Given the description of an element on the screen output the (x, y) to click on. 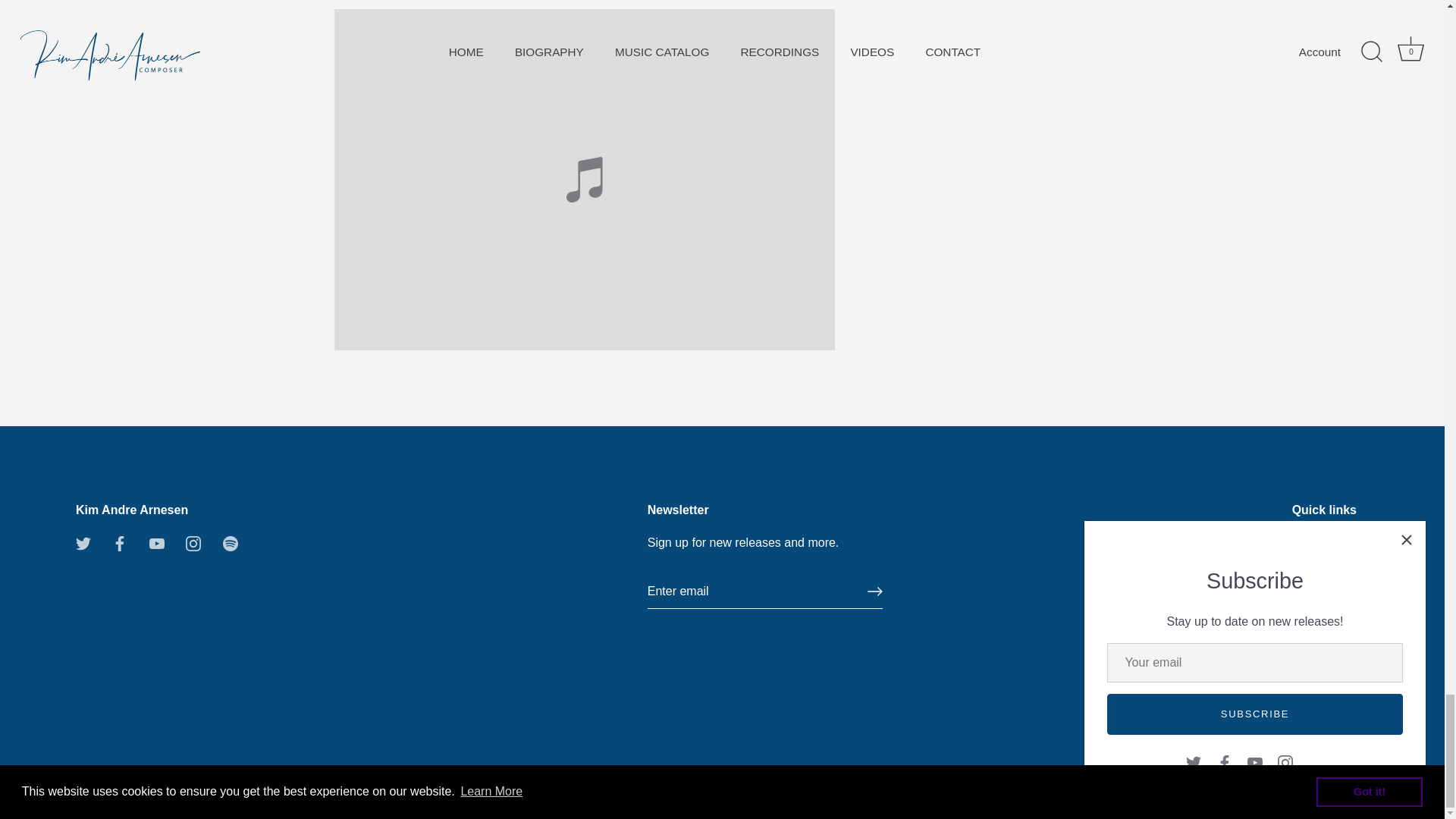
Instagram (193, 543)
Twitter (82, 542)
Youtube (156, 543)
Twitter (82, 543)
RIGHT ARROW LONG (874, 590)
